Given the description of an element on the screen output the (x, y) to click on. 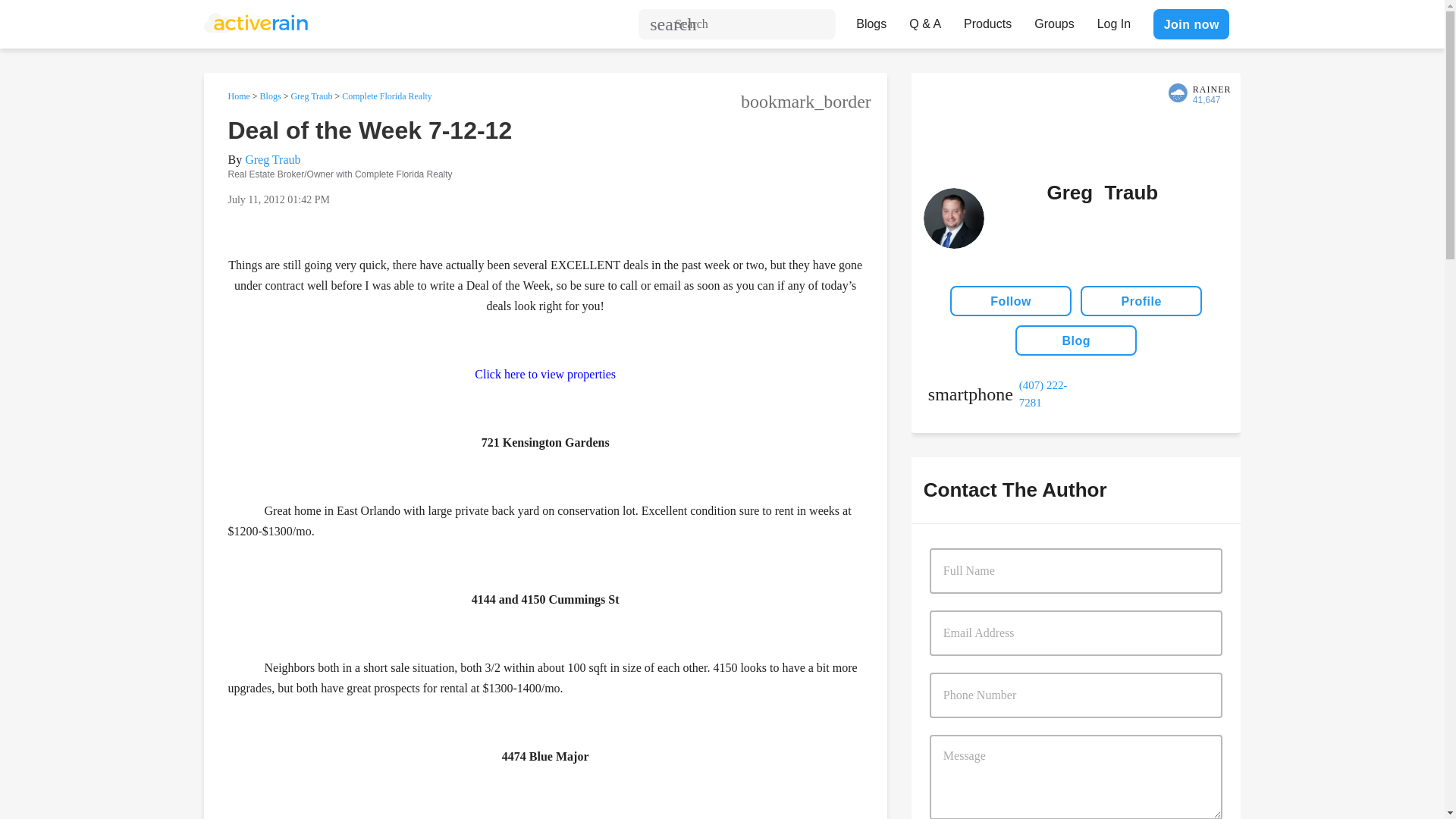
www.mysummerporthomepage.com (709, 817)
Click here to view properties (544, 373)
Blogs (870, 19)
Products (986, 19)
Greg Traub (271, 159)
Log In (1113, 19)
Join now (1190, 24)
Home (237, 95)
Complete Florida Realty (387, 95)
Groups (1053, 19)
